Given the description of an element on the screen output the (x, y) to click on. 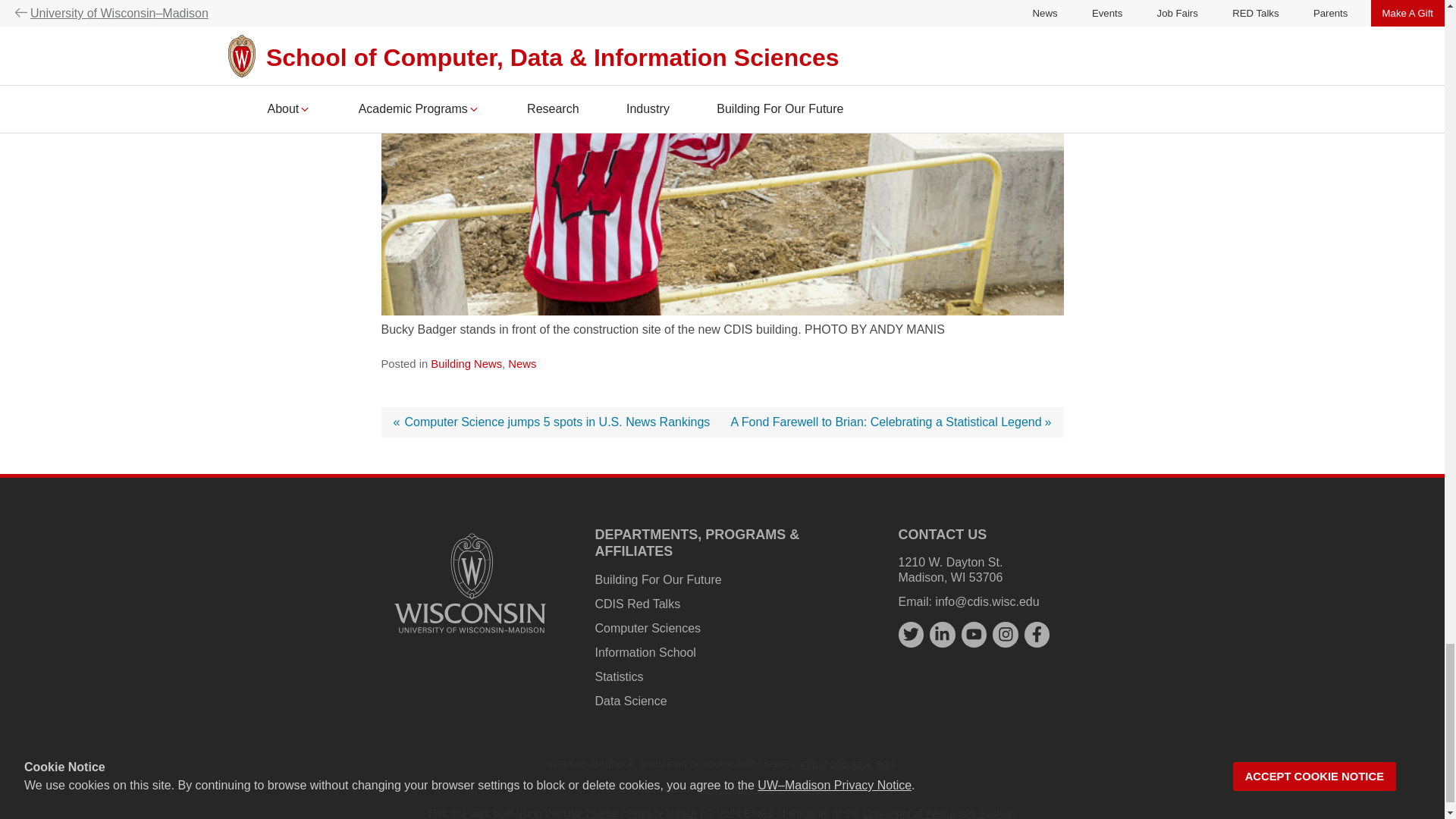
Building For Our Future (657, 579)
University logo that links to main university website (470, 635)
twitter (910, 634)
News (521, 363)
youtube (973, 634)
linkedin (941, 634)
University logo that links to main university website (470, 582)
Building News (466, 363)
facebook (1037, 634)
instagram (1005, 634)
